Given the description of an element on the screen output the (x, y) to click on. 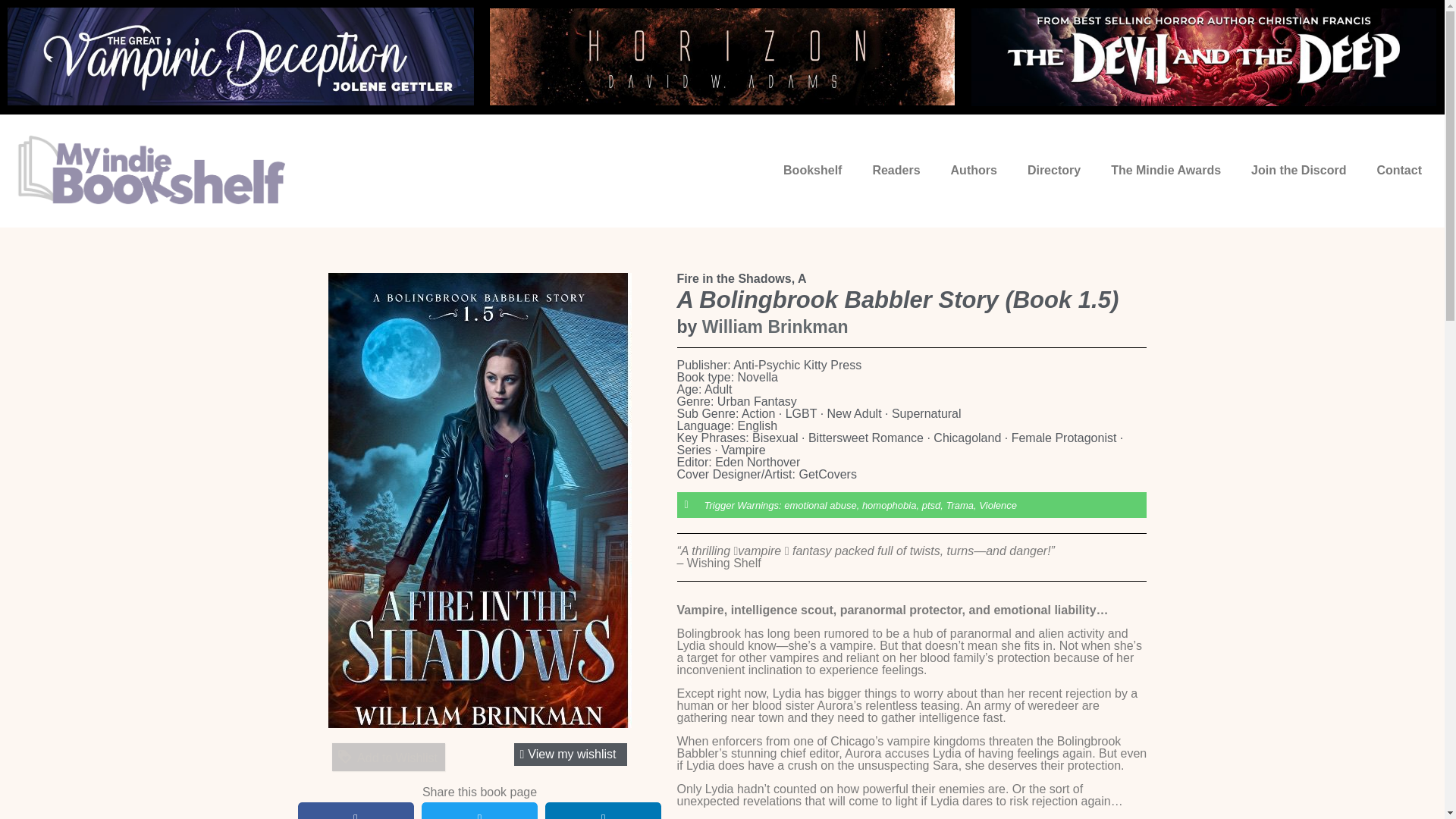
Bookshelf (812, 170)
William Brinkman (774, 326)
View my wishlist (569, 753)
Directory (1053, 170)
Contact (1399, 170)
Join the Discord (1298, 170)
Editor: Eden Northover (738, 462)
The Mindie Awards (1166, 170)
Authors (973, 170)
Readers (895, 170)
